Given the description of an element on the screen output the (x, y) to click on. 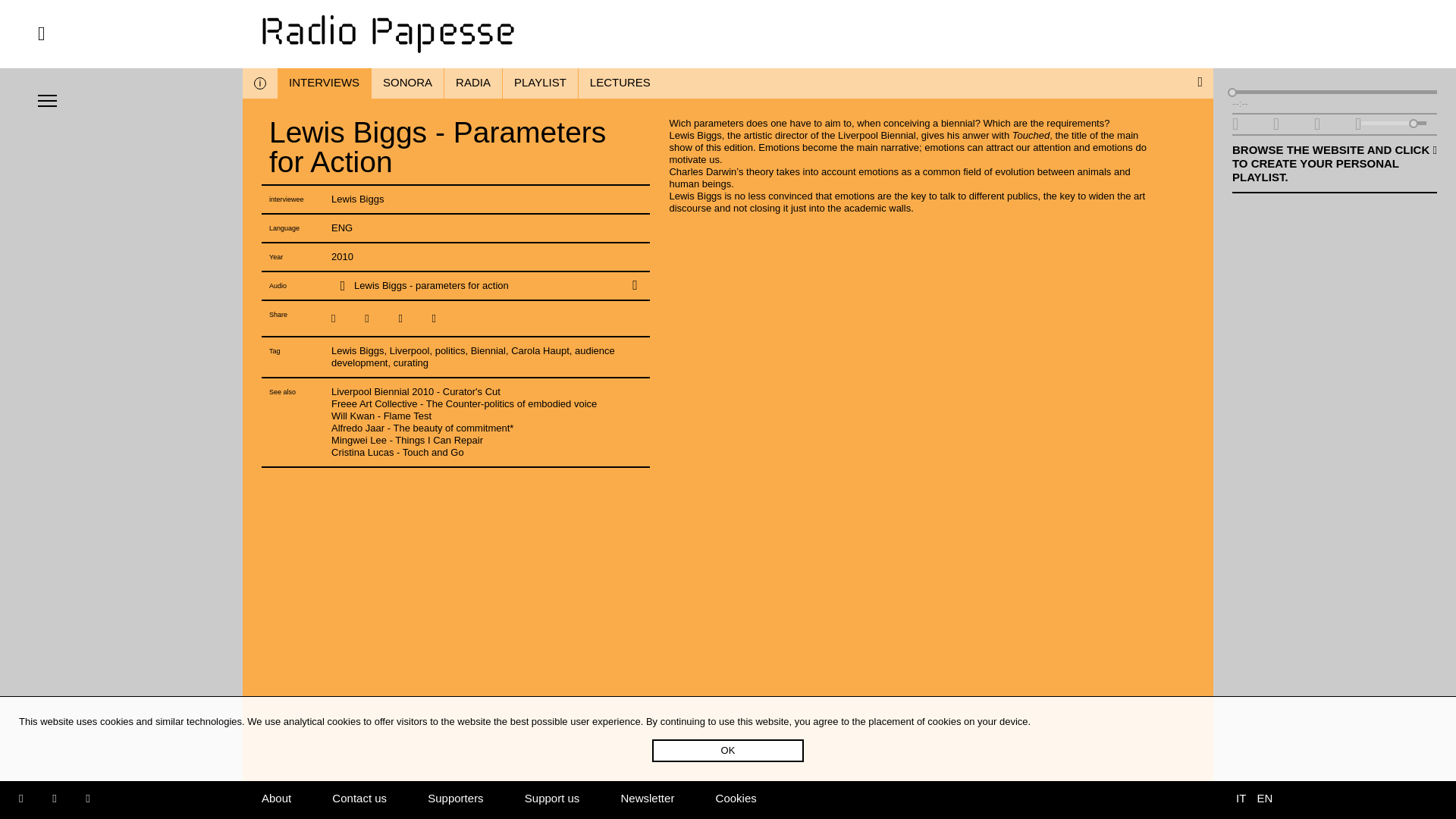
PLAYLIST (540, 82)
Lewis Biggs (357, 350)
Radio Papesse (727, 34)
Liverpool Biennial 2010 - Curator's Cut (415, 391)
Lewis Biggs - parameters for action (475, 285)
RADIA (473, 82)
politics (450, 350)
Carola Haupt (540, 350)
Home Radio Papesse (727, 34)
SONORA (407, 82)
Will Kwan - Flame Test (380, 415)
INTERVIEWS (324, 82)
LECTURES (620, 82)
i (260, 83)
